Given the description of an element on the screen output the (x, y) to click on. 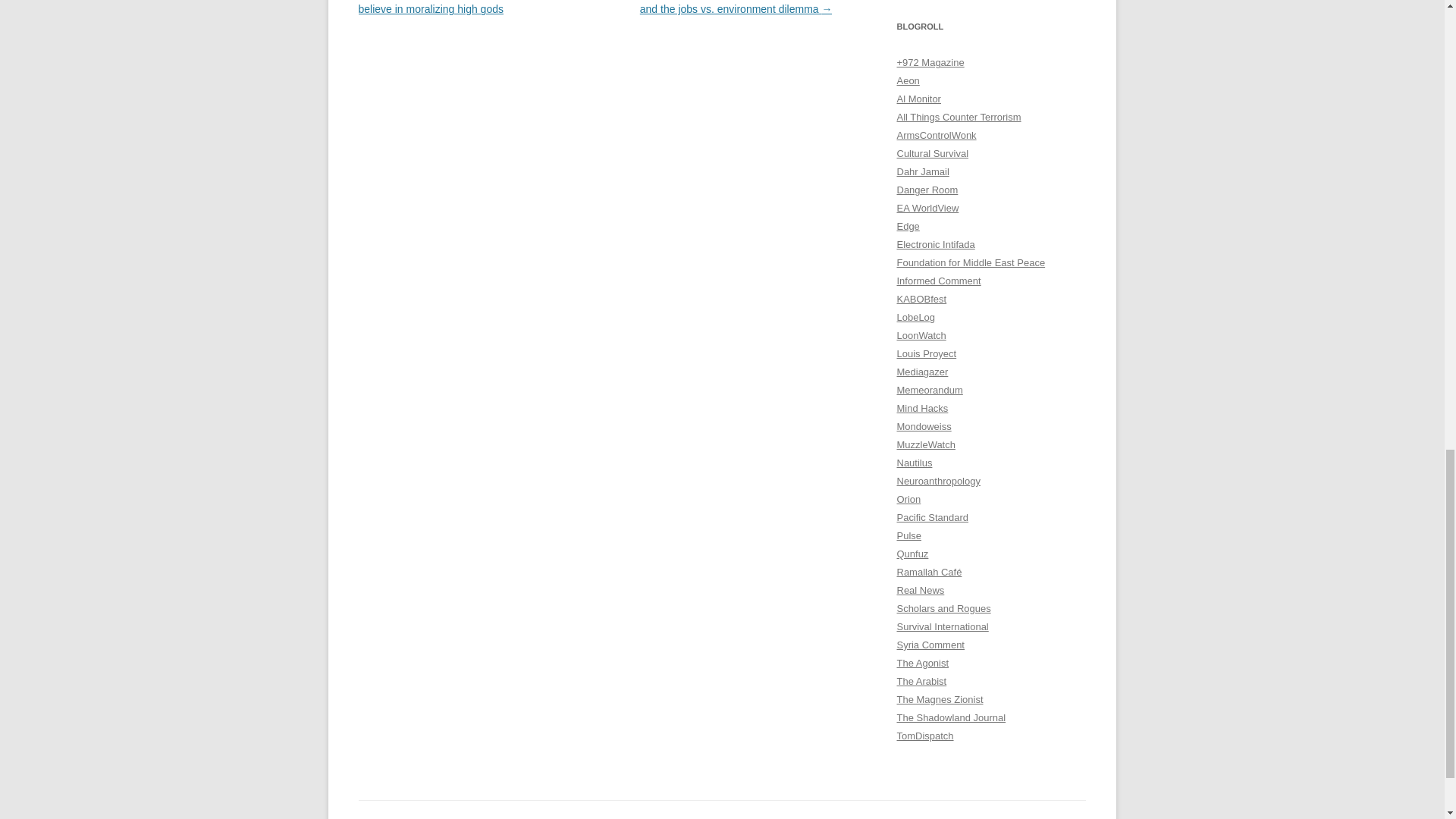
Aeon (907, 80)
Jim Lobe and friends on foreign policy (915, 317)
Al Monitor (918, 98)
